Given the description of an element on the screen output the (x, y) to click on. 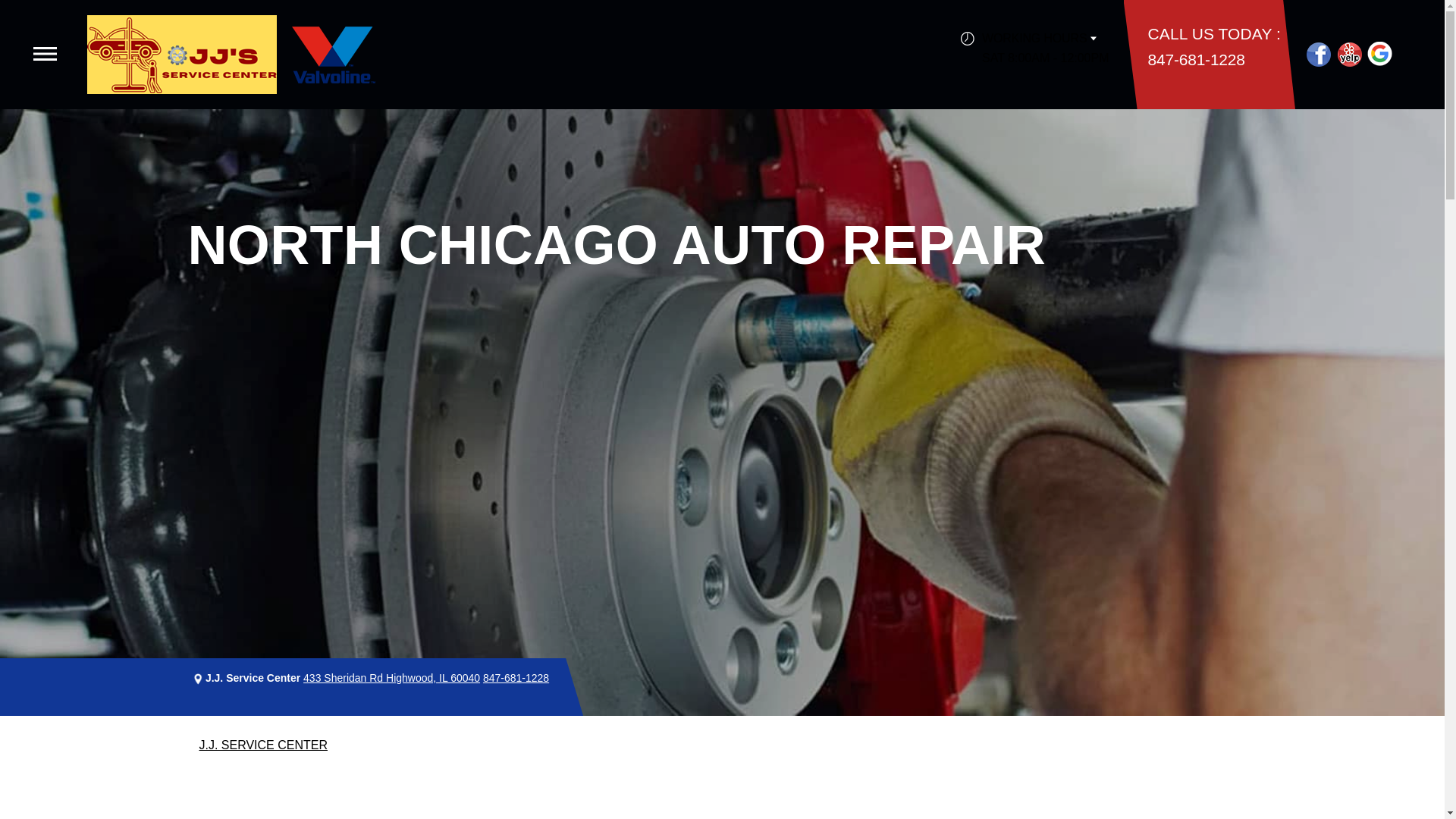
open-navigation-button (44, 53)
J.J. SERVICE CENTER (262, 744)
847-681-1228 (515, 677)
433 Sheridan Rd Highwood, IL 60040 (391, 677)
847-681-1228 (1196, 58)
